Given the description of an element on the screen output the (x, y) to click on. 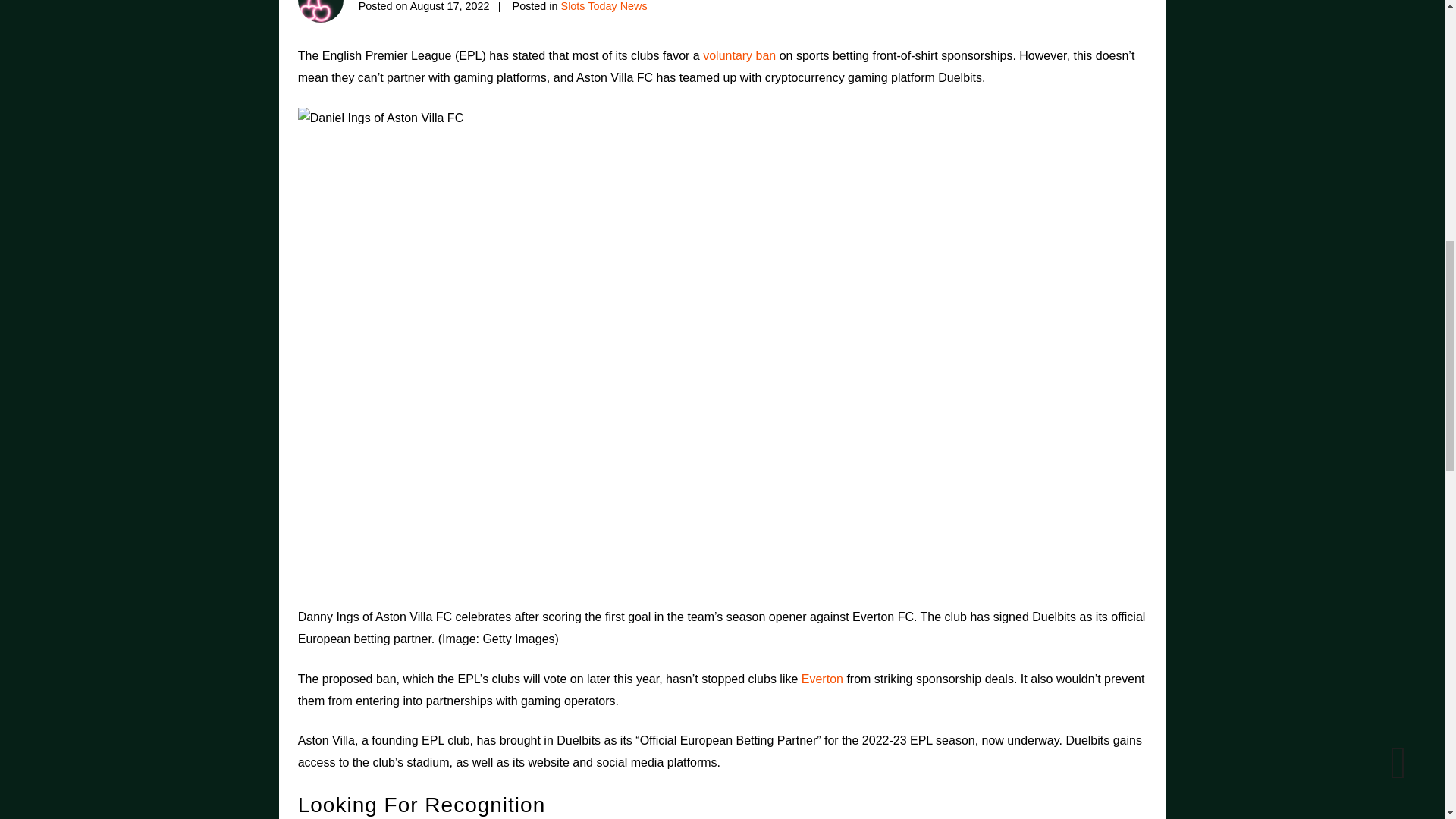
Slots Today News (603, 6)
Everton (822, 678)
voluntary ban (739, 55)
